Given the description of an element on the screen output the (x, y) to click on. 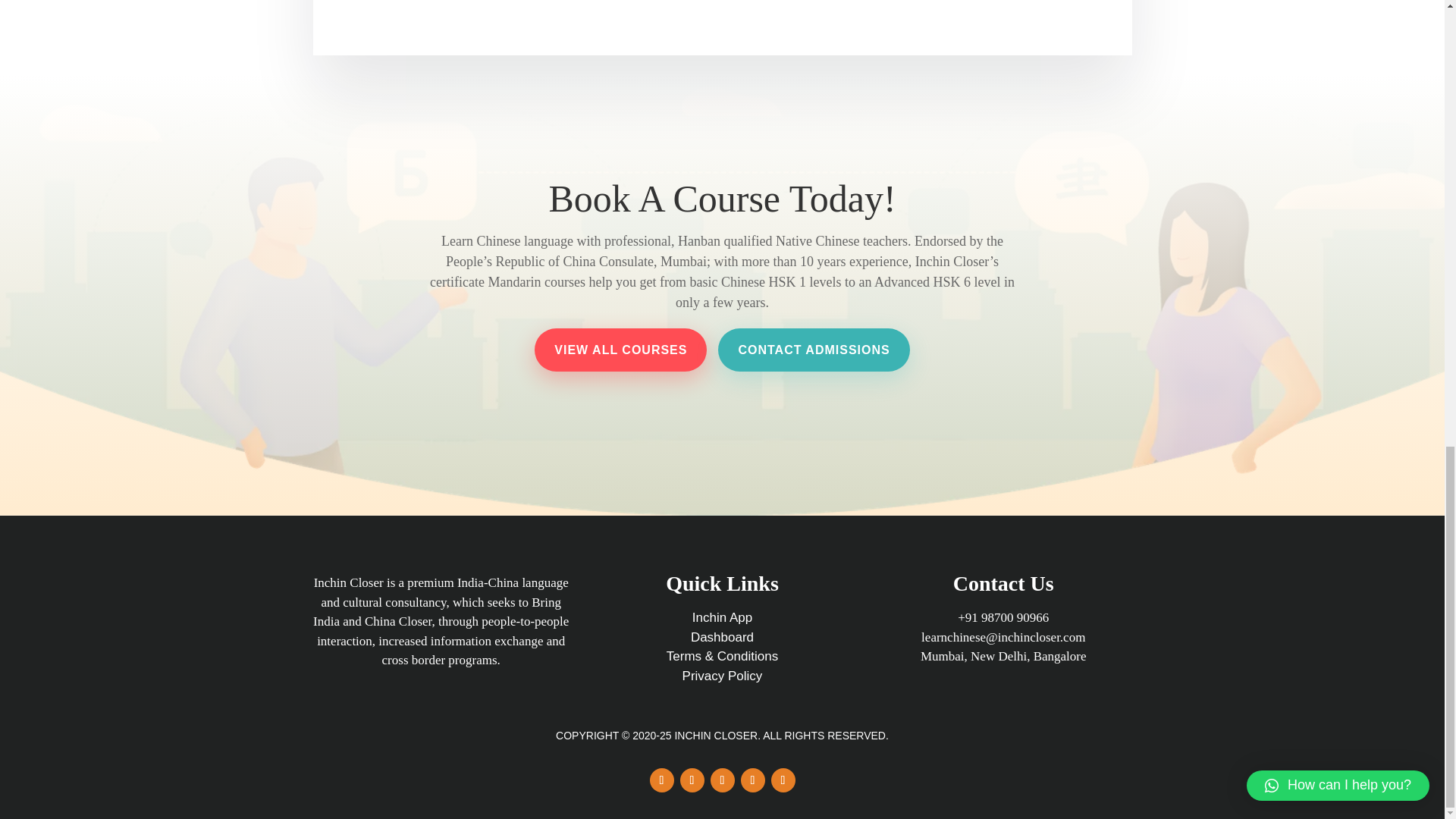
Follow on Twitter (691, 780)
Follow on Facebook (660, 780)
Follow on Instagram (721, 780)
Follow on Youtube (782, 780)
Follow on LinkedIn (751, 780)
